Given the description of an element on the screen output the (x, y) to click on. 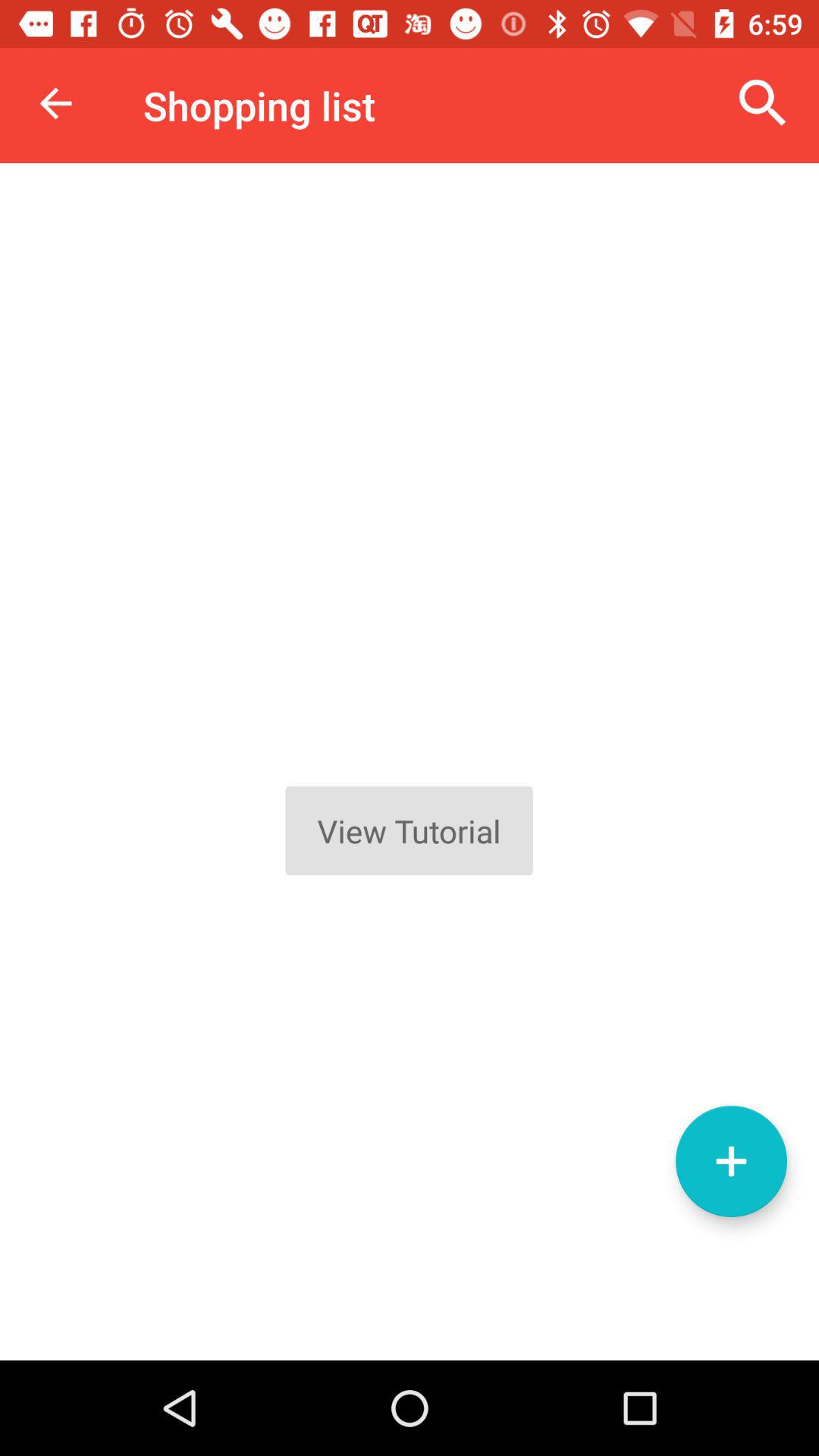
view tutorial (409, 761)
